Given the description of an element on the screen output the (x, y) to click on. 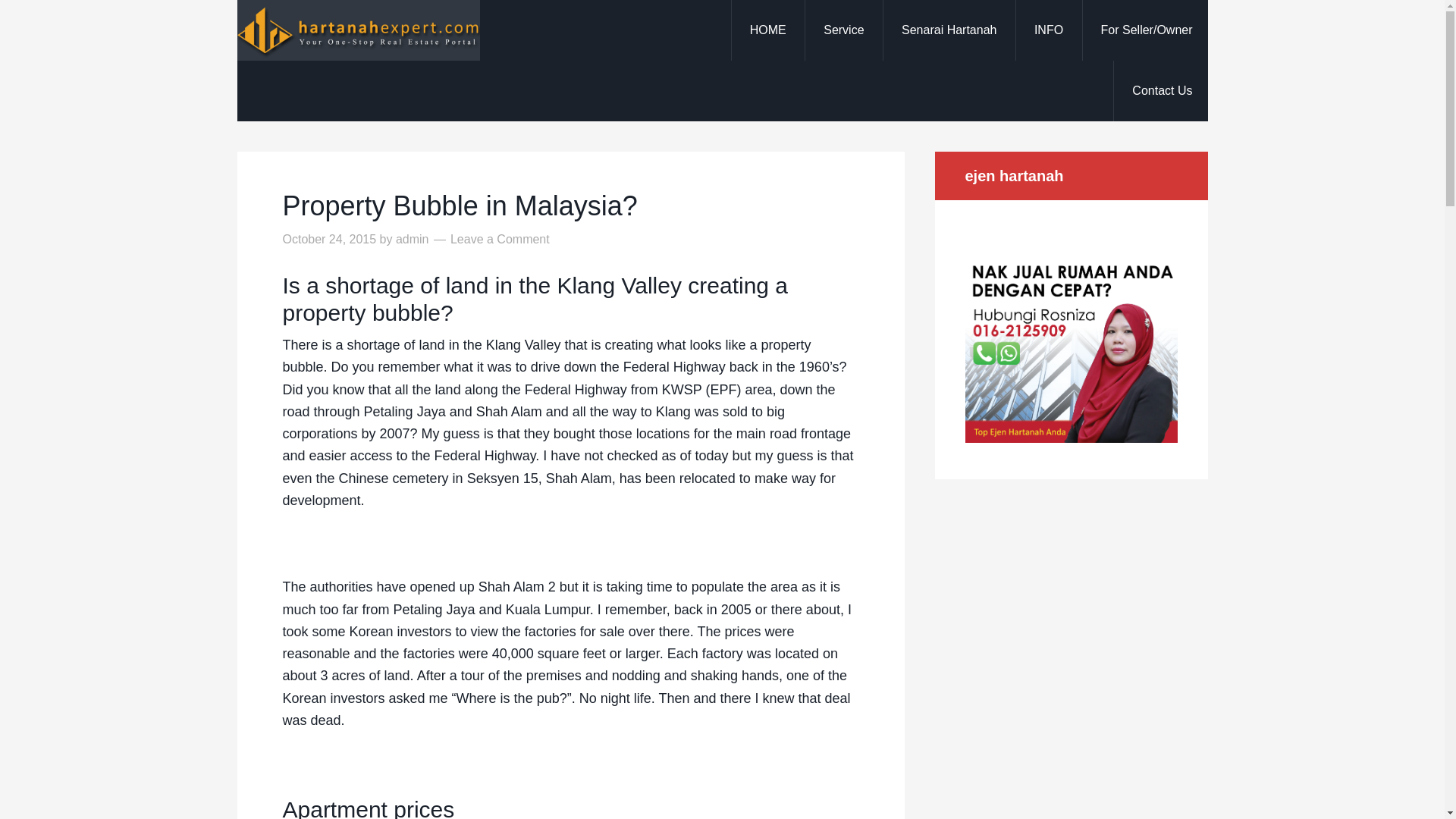
listings (948, 30)
HOME (767, 30)
Property Bubble in Malaysia? (459, 205)
for-owner (1146, 30)
Whatsapp Rosniza (1069, 438)
Contact Us (1161, 90)
Senarai Hartanah (948, 30)
contact-us (1161, 90)
INFO (1047, 30)
admin (412, 238)
Leave a Comment (499, 238)
home (767, 30)
info (1047, 30)
Service (843, 30)
